Given the description of an element on the screen output the (x, y) to click on. 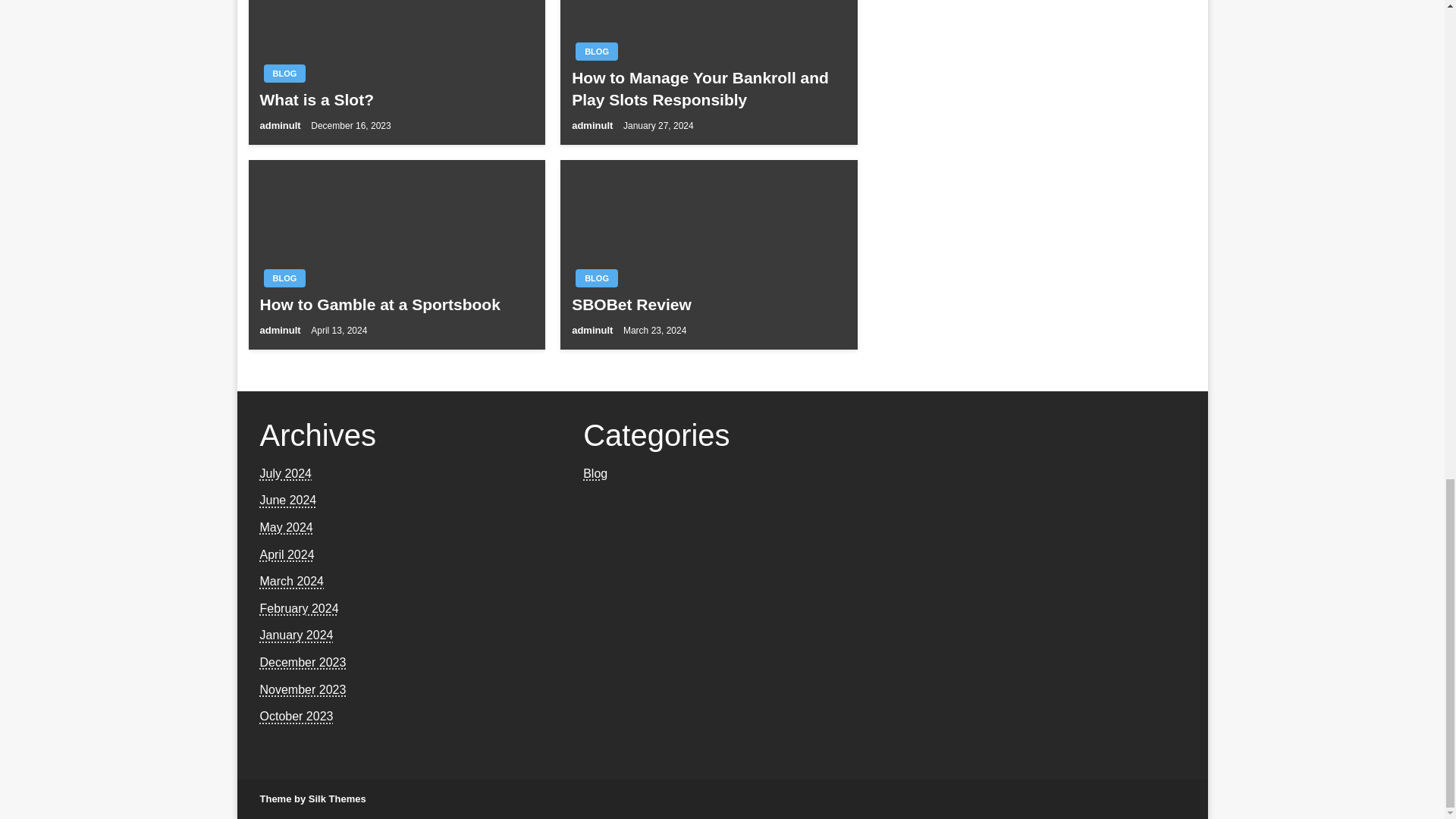
adminult (593, 329)
July 2024 (285, 472)
BLOG (284, 278)
adminult (280, 125)
What is a Slot? (396, 99)
BLOG (284, 73)
BLOG (596, 51)
How to Gamble at a Sportsbook (396, 304)
BLOG (596, 278)
How to Manage Your Bankroll and Play Slots Responsibly (708, 88)
adminult (280, 329)
adminult (593, 125)
SBOBet Review (708, 304)
